Given the description of an element on the screen output the (x, y) to click on. 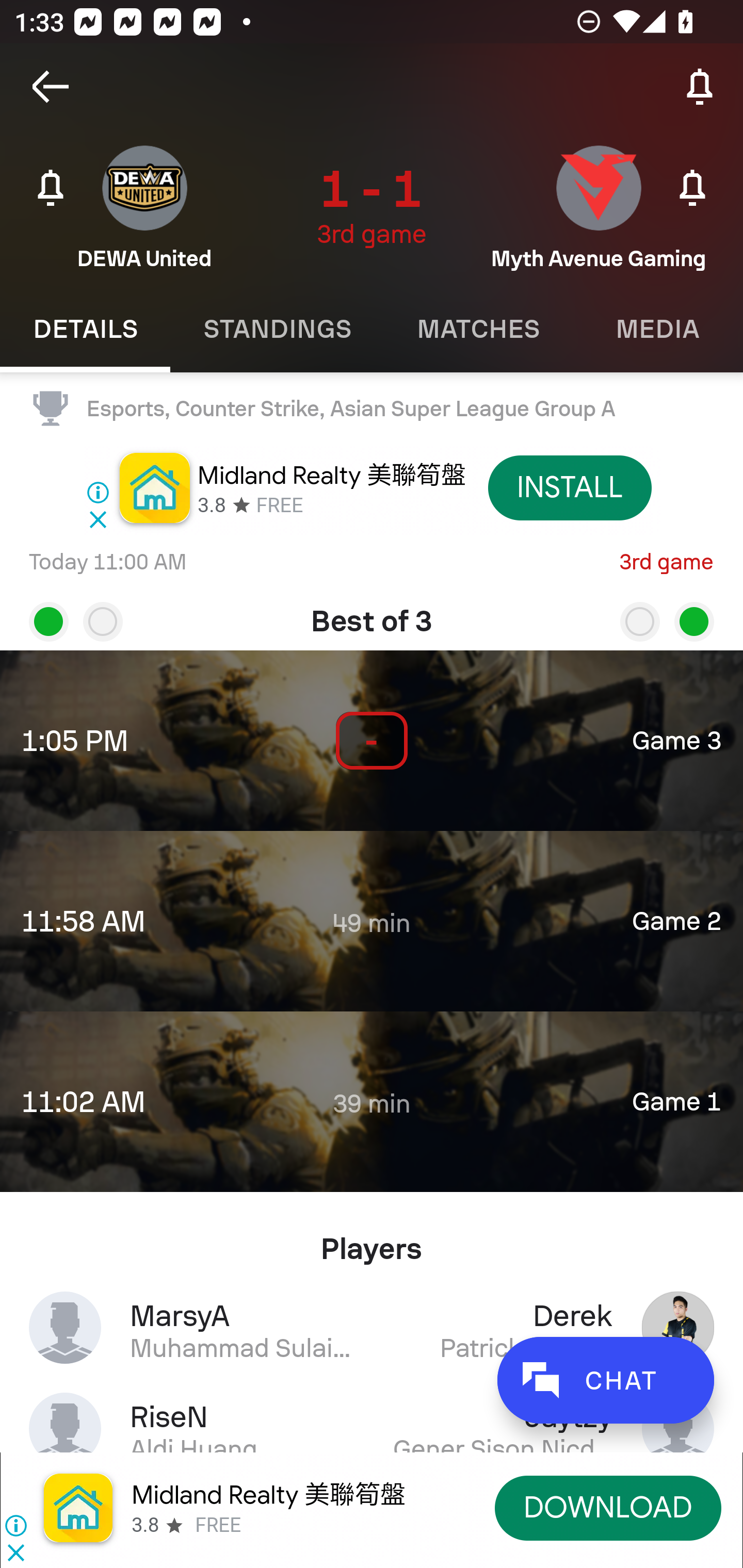
Navigate up (50, 86)
Standings STANDINGS (277, 329)
Matches MATCHES (478, 329)
Media MEDIA (657, 329)
INSTALL (570, 487)
Midland Realty 美聯筍盤 (331, 474)
Best of 3 (371, 614)
1:05 PM - Game 3 (371, 740)
11:58 AM 49 min Game 2 (371, 921)
11:02 AM 39 min Game 1 (371, 1101)
Players (371, 1240)
MarsyA Derek Muhammad Sulaiman Patrick Lacson (371, 1327)
CHAT (605, 1380)
DOWNLOAD (607, 1507)
Midland Realty 美聯筍盤 (268, 1494)
